Given the description of an element on the screen output the (x, y) to click on. 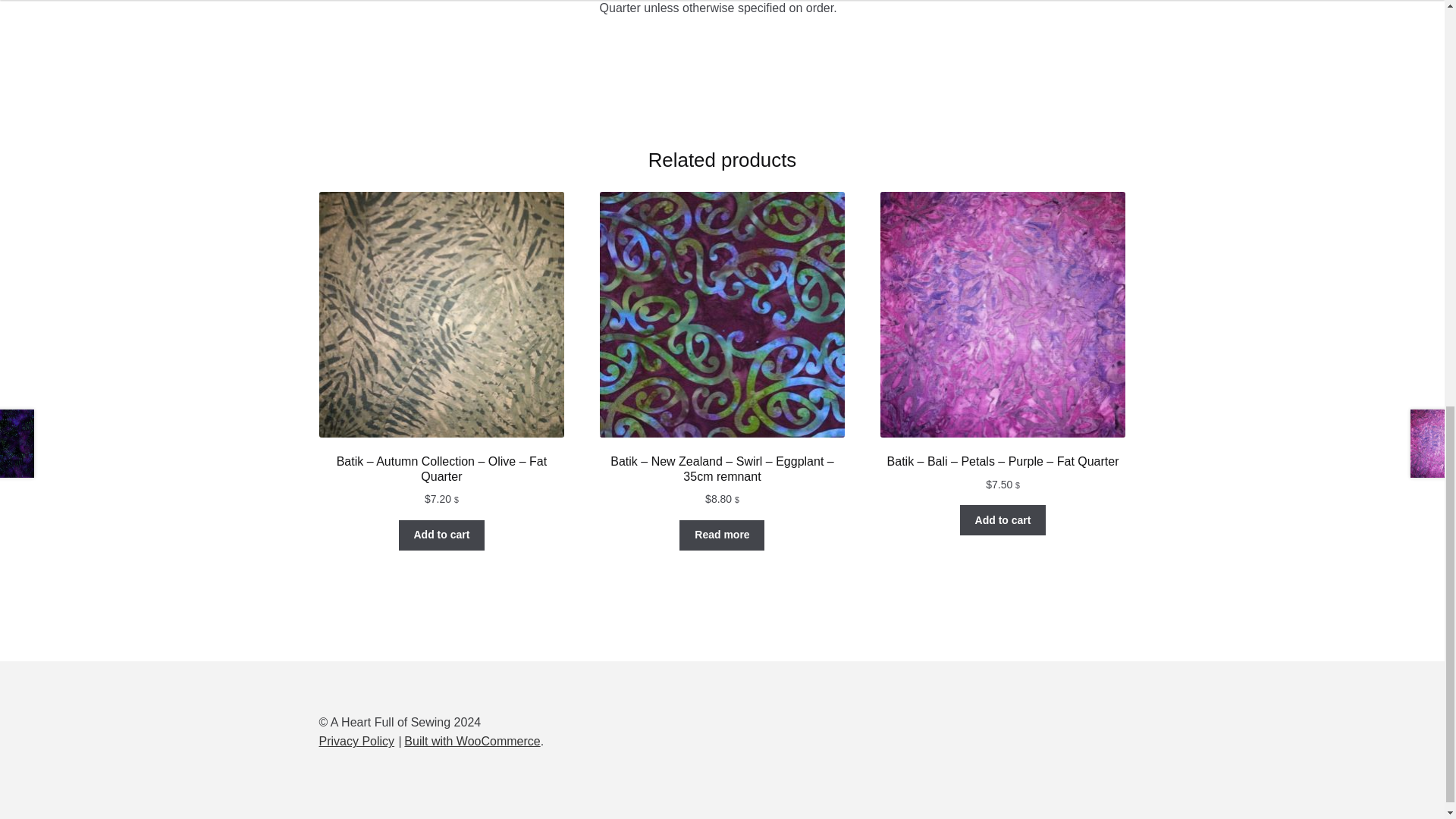
WooCommerce - The Best eCommerce Platform for WordPress (472, 740)
